Given the description of an element on the screen output the (x, y) to click on. 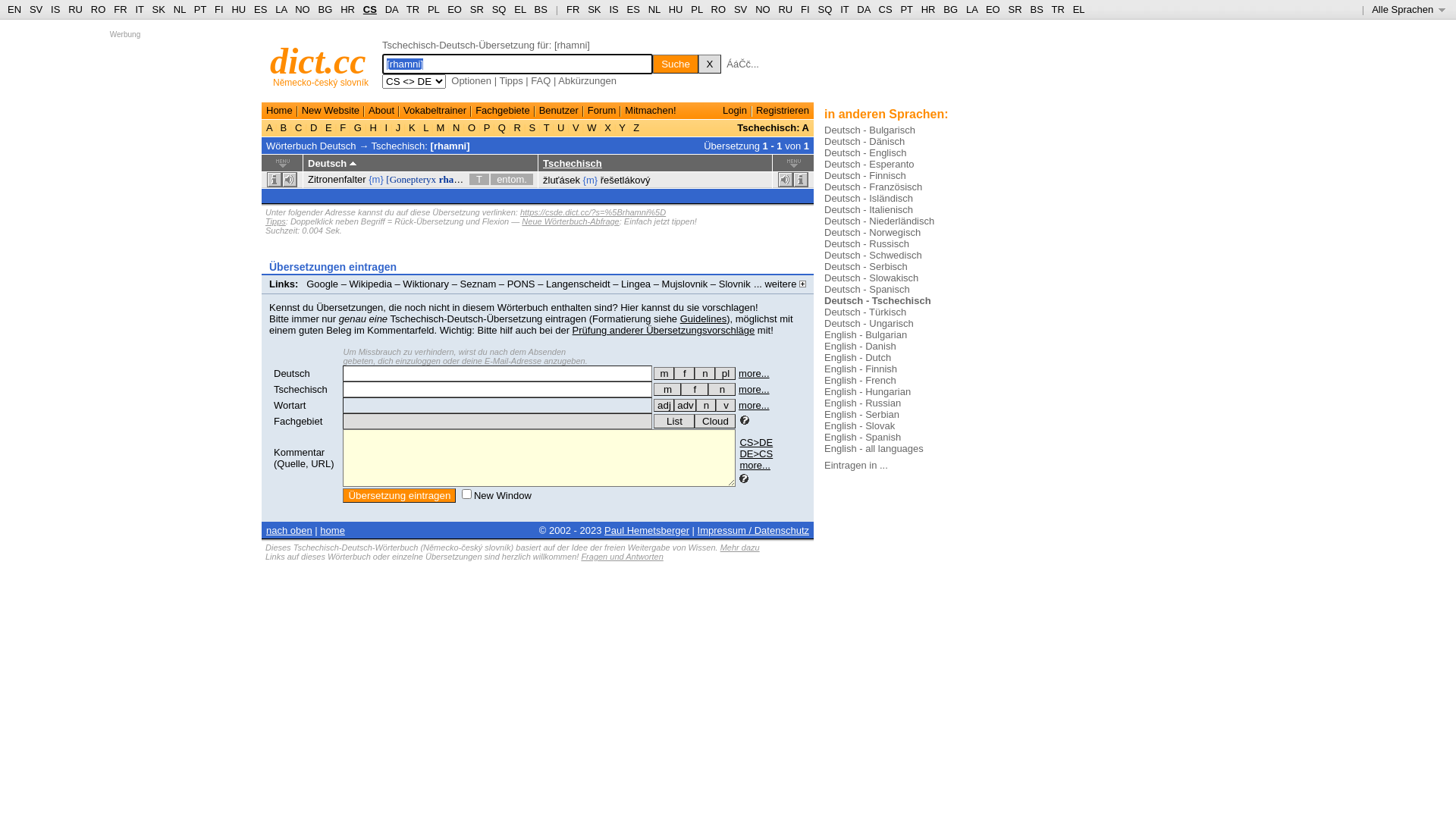
M Element type: text (440, 127)
BG Element type: text (325, 9)
RO Element type: text (98, 9)
SR Element type: text (476, 9)
RU Element type: text (785, 9)
EL Element type: text (1079, 9)
Deutsch - Slowakisch Element type: text (871, 277)
Registrieren Element type: text (782, 110)
Lingea Element type: text (635, 283)
FAQ Element type: text (540, 80)
Deutsch - Russisch Element type: text (866, 243)
Suche Element type: text (675, 63)
HU Element type: text (238, 9)
B Element type: text (283, 127)
v Element type: text (725, 404)
NO Element type: text (762, 9)
English - Dutch Element type: text (857, 357)
IT Element type: text (138, 9)
IS Element type: text (613, 9)
Deutsch - Englisch Element type: text (865, 152)
DA Element type: text (862, 9)
Mehr dazu Element type: text (739, 547)
V Element type: text (575, 127)
more... Element type: text (754, 464)
Wiktionary Element type: text (425, 283)
DA Element type: text (391, 9)
IT Element type: text (844, 9)
X Element type: text (709, 63)
BG Element type: text (950, 9)
Duden Element type: text (291, 295)
Q Element type: text (501, 127)
P Element type: text (486, 127)
E Element type: text (328, 127)
FI Element type: text (218, 9)
Mitmachen! Element type: text (649, 110)
English - French Element type: text (860, 379)
SQ Element type: text (499, 9)
more... Element type: text (753, 389)
H Element type: text (373, 127)
N Element type: text (455, 127)
nach oben Element type: text (289, 530)
D Element type: text (313, 127)
English - Hungarian Element type: text (867, 391)
Tschechisch Element type: text (572, 163)
entom. Element type: text (511, 179)
Tipps Element type: text (275, 220)
Benutzer Element type: text (558, 110)
HR Element type: text (347, 9)
U Element type: text (560, 127)
Deutsch - Schwedisch Element type: text (873, 254)
dict.cc Element type: text (317, 60)
F Element type: text (342, 127)
HR Element type: text (928, 9)
SV Element type: text (35, 9)
Fachgebiete Element type: text (502, 110)
more... Element type: text (753, 405)
n Element type: text (704, 373)
https://csde.dict.cc/?s=%5Brhamni%5D Element type: text (592, 211)
FR Element type: text (119, 9)
PL Element type: text (433, 9)
Deutsch - Spanisch Element type: text (867, 288)
O Element type: text (470, 127)
English - Bulgarian Element type: text (865, 334)
Impressum / Datenschutz Element type: text (753, 530)
FR Element type: text (572, 9)
NL Element type: text (179, 9)
English - Finnish Element type: text (860, 368)
L Element type: text (425, 127)
A Element type: text (270, 127)
X Element type: text (608, 127)
Slovnik Element type: text (734, 283)
DE>CS Element type: text (755, 453)
LA Element type: text (971, 9)
PT Element type: text (200, 9)
Zitronenfalter Element type: text (336, 179)
Login Element type: text (734, 110)
Home Element type: text (279, 110)
more... Element type: text (753, 373)
EO Element type: text (992, 9)
English - Russian Element type: text (862, 402)
ES Element type: text (260, 9)
Tschechisch: A Element type: text (773, 127)
W Element type: text (591, 127)
die - Mehrzahl (Plural) Element type: hover (725, 373)
CS Element type: text (884, 9)
Wikipedia Element type: text (370, 283)
LA Element type: text (280, 9)
R Element type: text (517, 127)
die - weiblich (Femininum) Element type: hover (684, 373)
Guidelines Element type: text (703, 318)
About Element type: text (381, 110)
m Element type: text (666, 388)
RO Element type: text (718, 9)
PL Element type: text (696, 9)
BS Element type: text (540, 9)
Links anpassen Element type: text (351, 295)
[Gonepteryx Element type: text (410, 179)
adv Element type: text (685, 404)
... weitere Element type: text (779, 283)
Y Element type: text (621, 127)
List Element type: text (673, 421)
Tschechisch Element type: text (300, 389)
n Element type: text (705, 404)
EL Element type: text (519, 9)
BS Element type: text (1035, 9)
Deutsch - Serbisch Element type: text (865, 266)
Paul Hemetsberger Element type: text (646, 530)
SR Element type: text (1015, 9)
Deutsch - Bulgarisch Element type: text (869, 129)
I Element type: text (386, 127)
Tipps Element type: text (510, 80)
pl Element type: text (725, 373)
Deutsch - Ungarisch Element type: text (868, 323)
SK Element type: text (158, 9)
K Element type: text (411, 127)
NL Element type: text (654, 9)
Z Element type: text (636, 127)
f Element type: text (694, 388)
English - all languages Element type: text (873, 448)
S Element type: text (532, 127)
Langenscheidt Element type: text (578, 283)
n Element type: text (721, 388)
G Element type: text (357, 127)
TR Element type: text (1057, 9)
Optionen Element type: text (471, 80)
SV Element type: text (740, 9)
T Element type: text (479, 179)
RU Element type: text (75, 9)
PONS Element type: text (521, 283)
Deutsch - Tschechisch Element type: text (877, 300)
TR Element type: text (412, 9)
Fragen und Antworten Element type: text (621, 556)
EO Element type: text (454, 9)
English - Serbian Element type: text (861, 414)
New Website Element type: text (330, 110)
HU Element type: text (675, 9)
Google Element type: text (322, 283)
Deutsch Element type: text (291, 373)
Forum Element type: text (601, 110)
SK Element type: text (593, 9)
CS Element type: text (369, 9)
home Element type: text (332, 530)
Cloud Element type: text (714, 421)
Mujslovnik Element type: text (685, 283)
NO Element type: text (302, 9)
J Element type: text (397, 127)
Deutsch - Norwegisch Element type: text (872, 232)
EN Element type: text (14, 9)
T Element type: text (546, 127)
CS>DE Element type: text (755, 442)
Deutsch - Finnisch Element type: text (865, 175)
rhamni] Element type: text (456, 179)
adj Element type: text (663, 404)
Seznam Element type: text (478, 283)
Deutsch - Italienisch Element type: text (868, 209)
C Element type: text (297, 127)
English - Danish Element type: text (860, 345)
Deutsch - Esperanto Element type: text (869, 163)
m Element type: text (663, 373)
English - Spanish Element type: text (862, 436)
Eintragen in ... Element type: text (856, 464)
f Element type: text (684, 373)
Alle Sprachen  Element type: text (1408, 9)
English - Slovak Element type: text (859, 425)
IS Element type: text (54, 9)
ES Element type: text (633, 9)
FI Element type: text (804, 9)
PT Element type: text (906, 9)
SQ Element type: text (824, 9)
[rhamni] Element type: text (450, 144)
Vokabeltrainer Element type: text (434, 110)
